Given the description of an element on the screen output the (x, y) to click on. 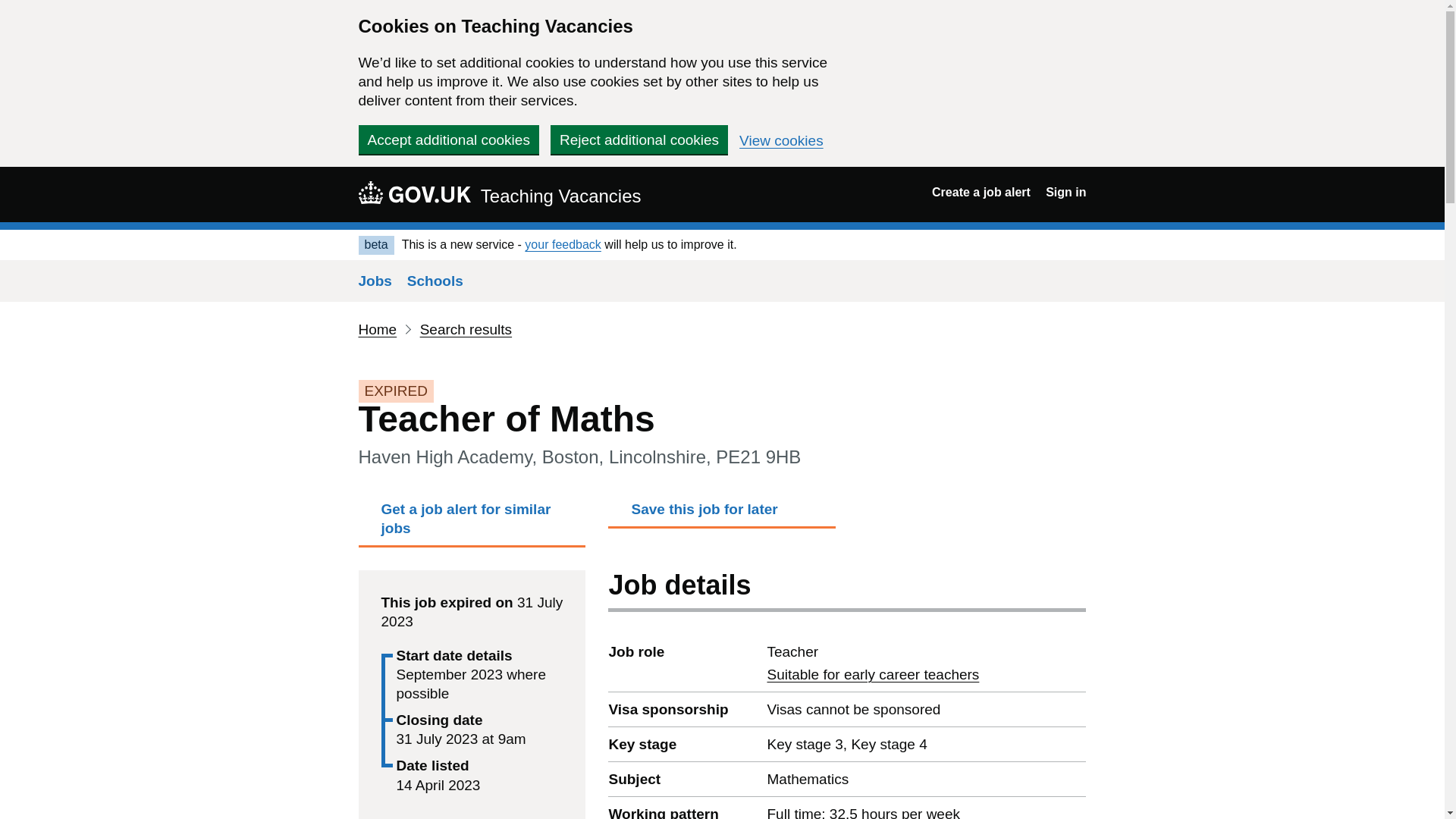
GOV.UK Teaching Vacancies (499, 194)
Sign in (1065, 192)
Save this job for later (721, 513)
View cookies (781, 140)
Create a job alert (980, 192)
Get a job alert for similar jobs (471, 522)
Home (377, 329)
your feedback (562, 244)
Reject additional cookies (639, 139)
